Given the description of an element on the screen output the (x, y) to click on. 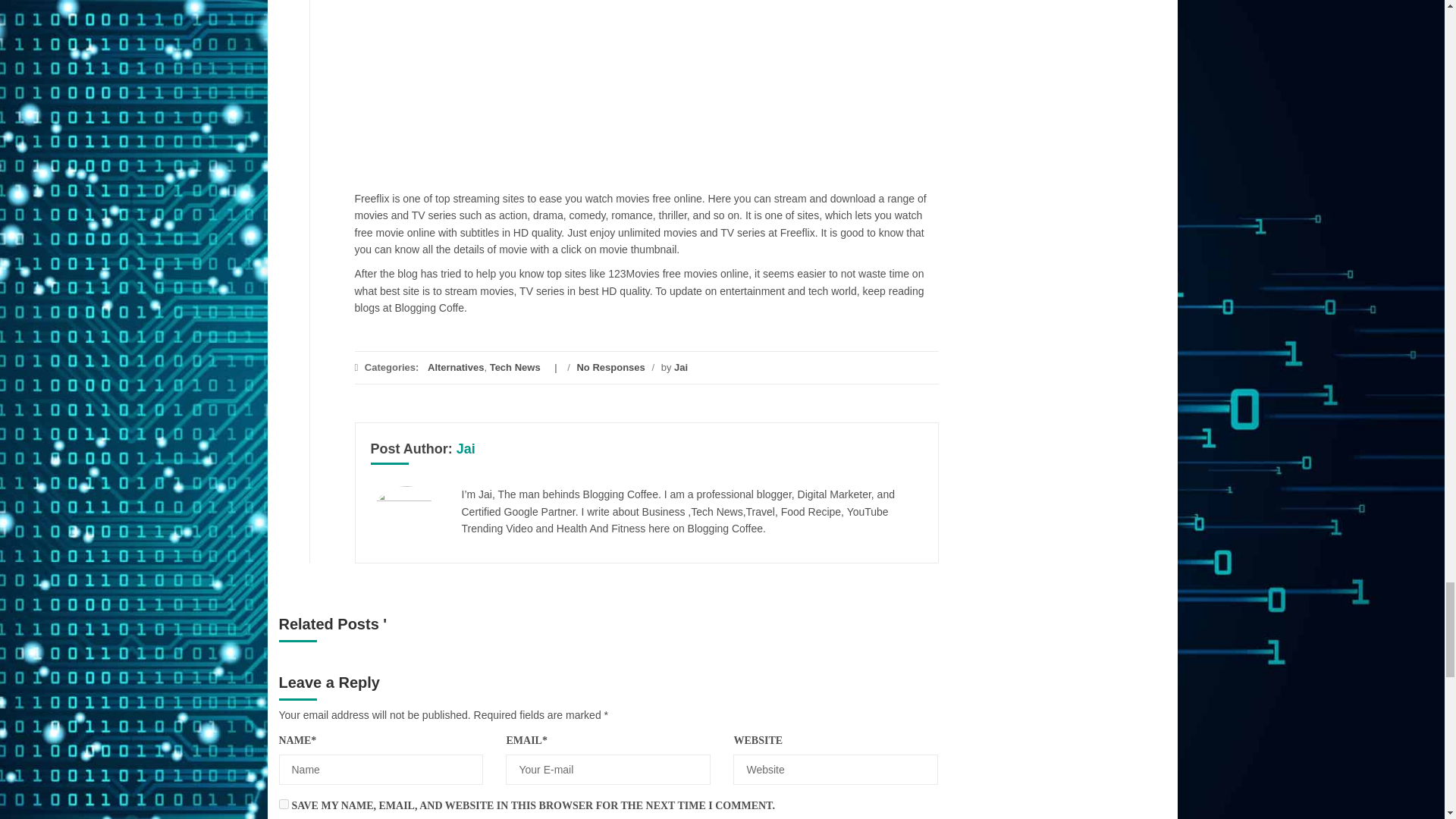
Tech News (514, 367)
No Responses (610, 367)
Jai (466, 448)
Alternatives (455, 367)
Jai (680, 367)
yes (283, 804)
